Given the description of an element on the screen output the (x, y) to click on. 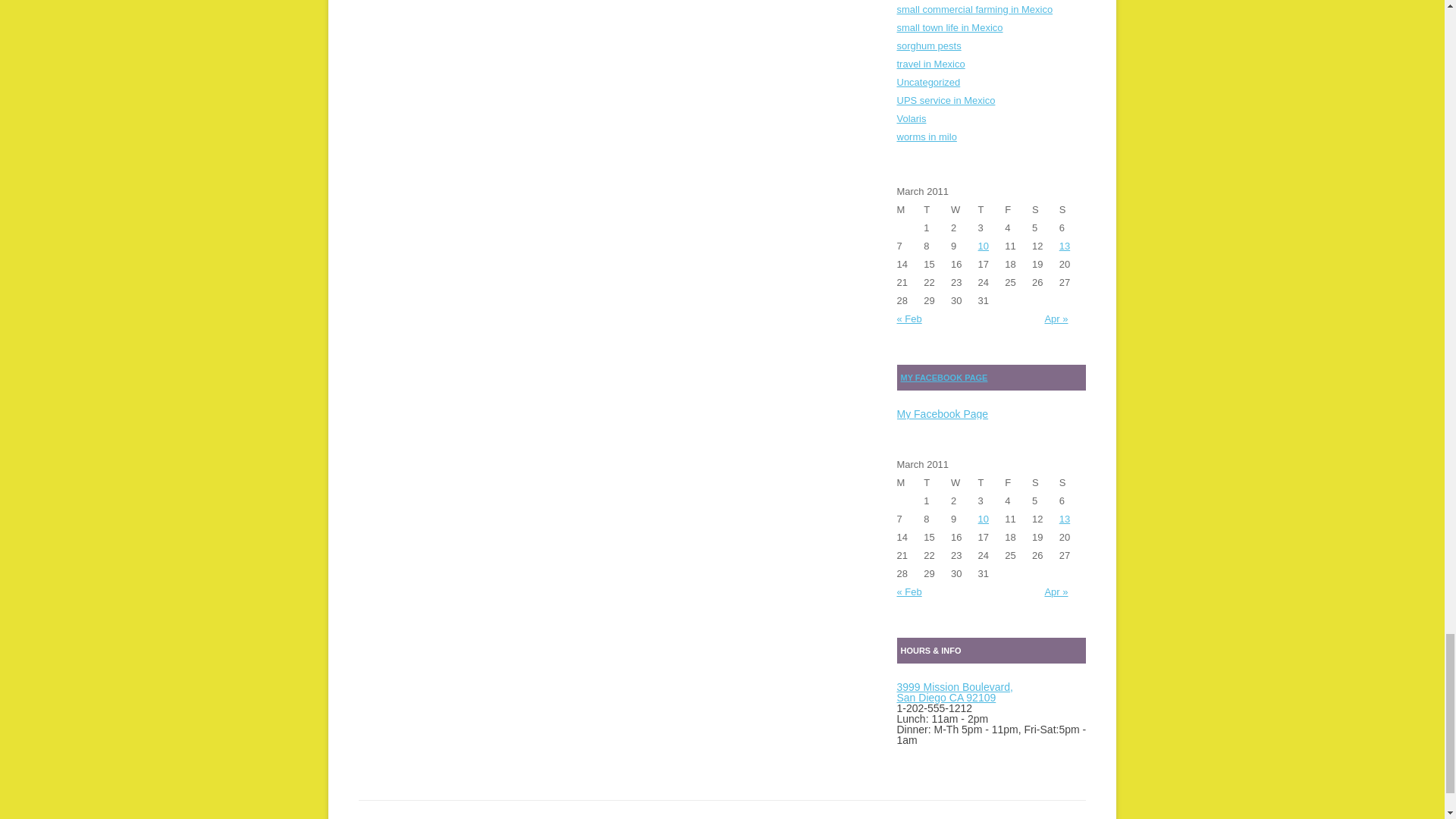
Monday (909, 209)
Saturday (1045, 209)
Friday (1018, 209)
Thursday (992, 209)
Sunday (1072, 209)
Tuesday (936, 209)
Wednesday (964, 209)
